Given the description of an element on the screen output the (x, y) to click on. 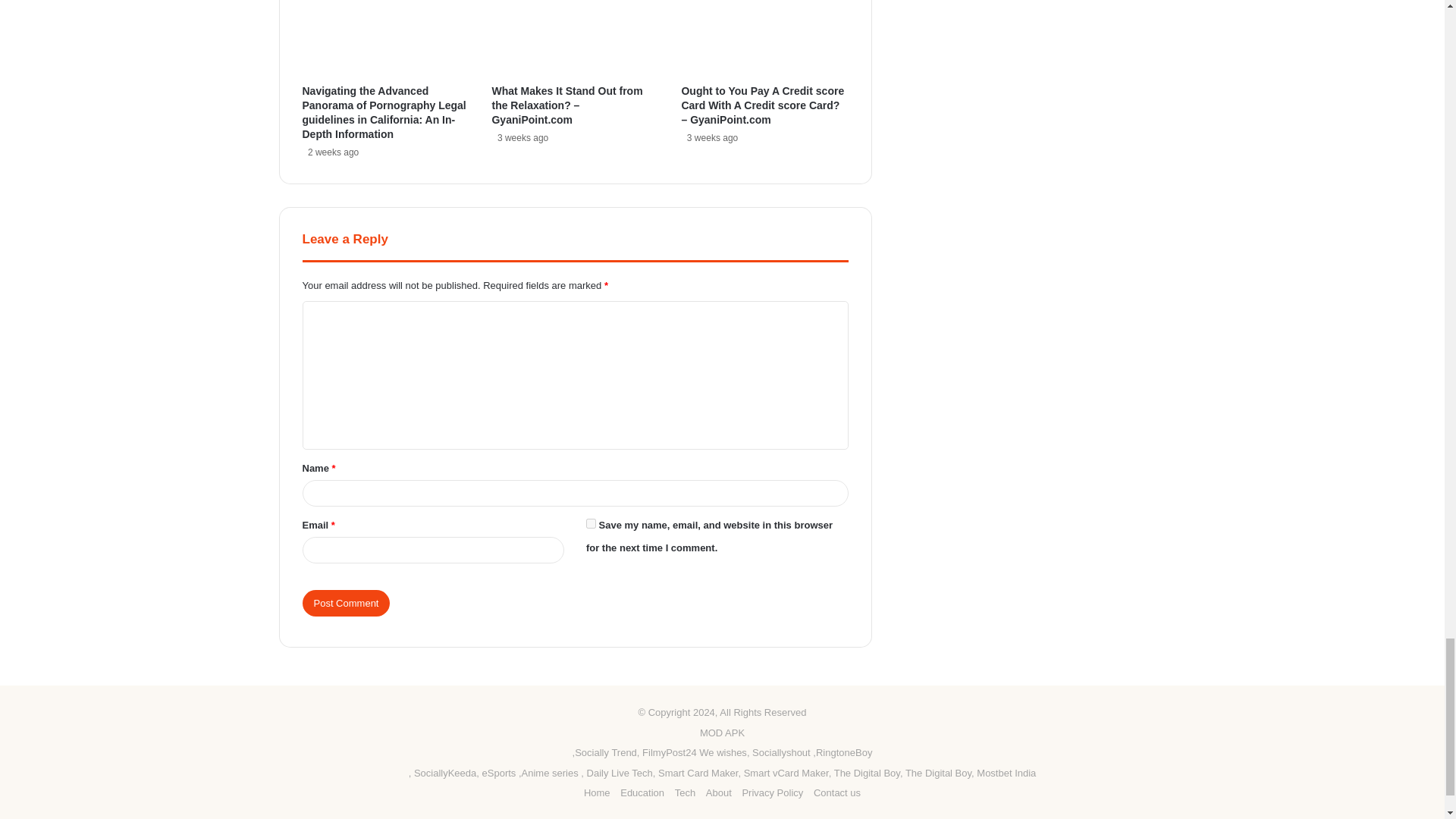
Post Comment (345, 602)
yes (590, 523)
